Given the description of an element on the screen output the (x, y) to click on. 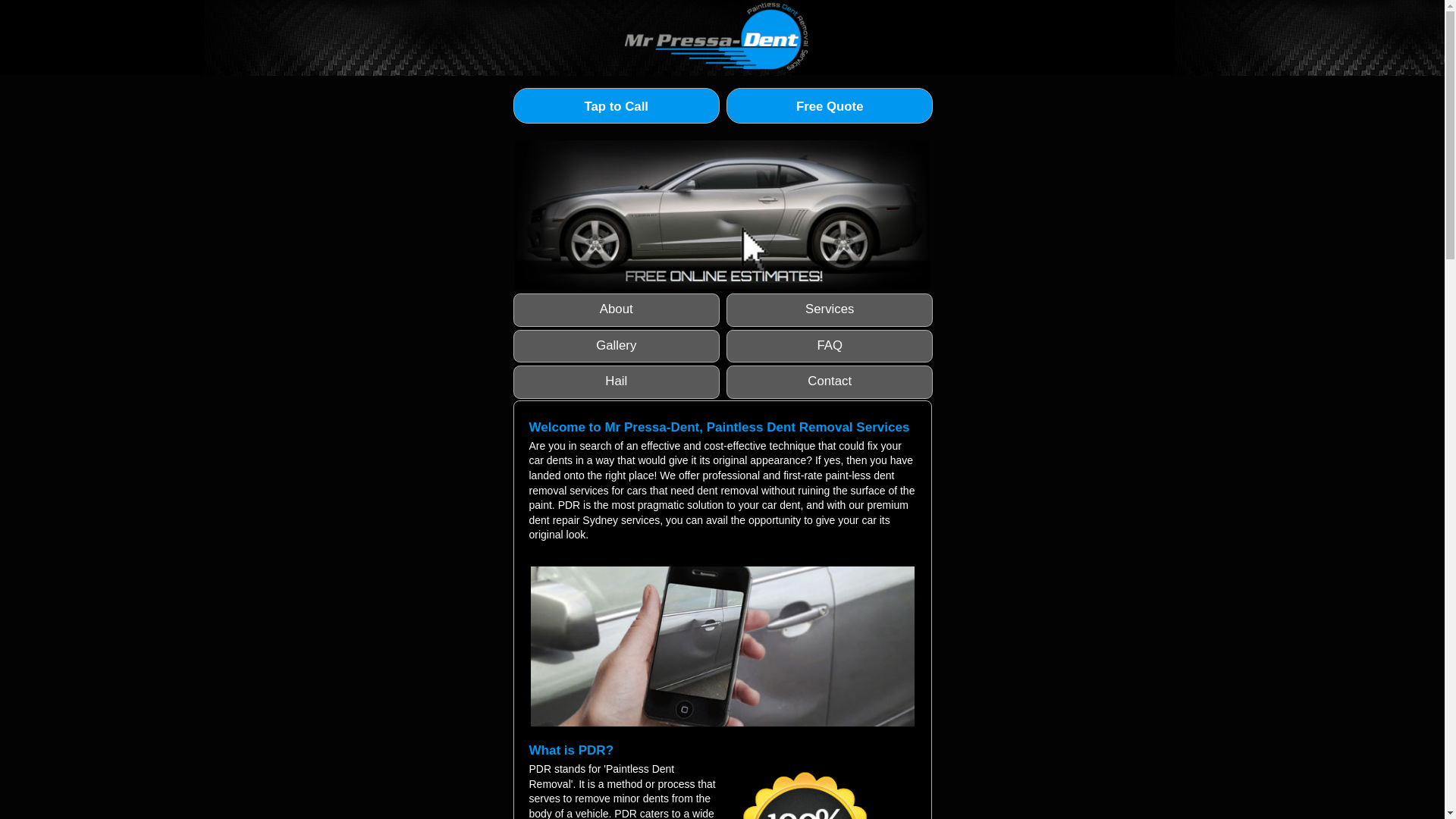
Hail Element type: text (615, 381)
Gallery Element type: text (615, 345)
Services Element type: text (829, 309)
FAQ Element type: text (829, 345)
Tap to Call Element type: text (615, 105)
About Element type: text (615, 309)
Free Quote Element type: text (829, 105)
Contact Element type: text (829, 381)
